Given the description of an element on the screen output the (x, y) to click on. 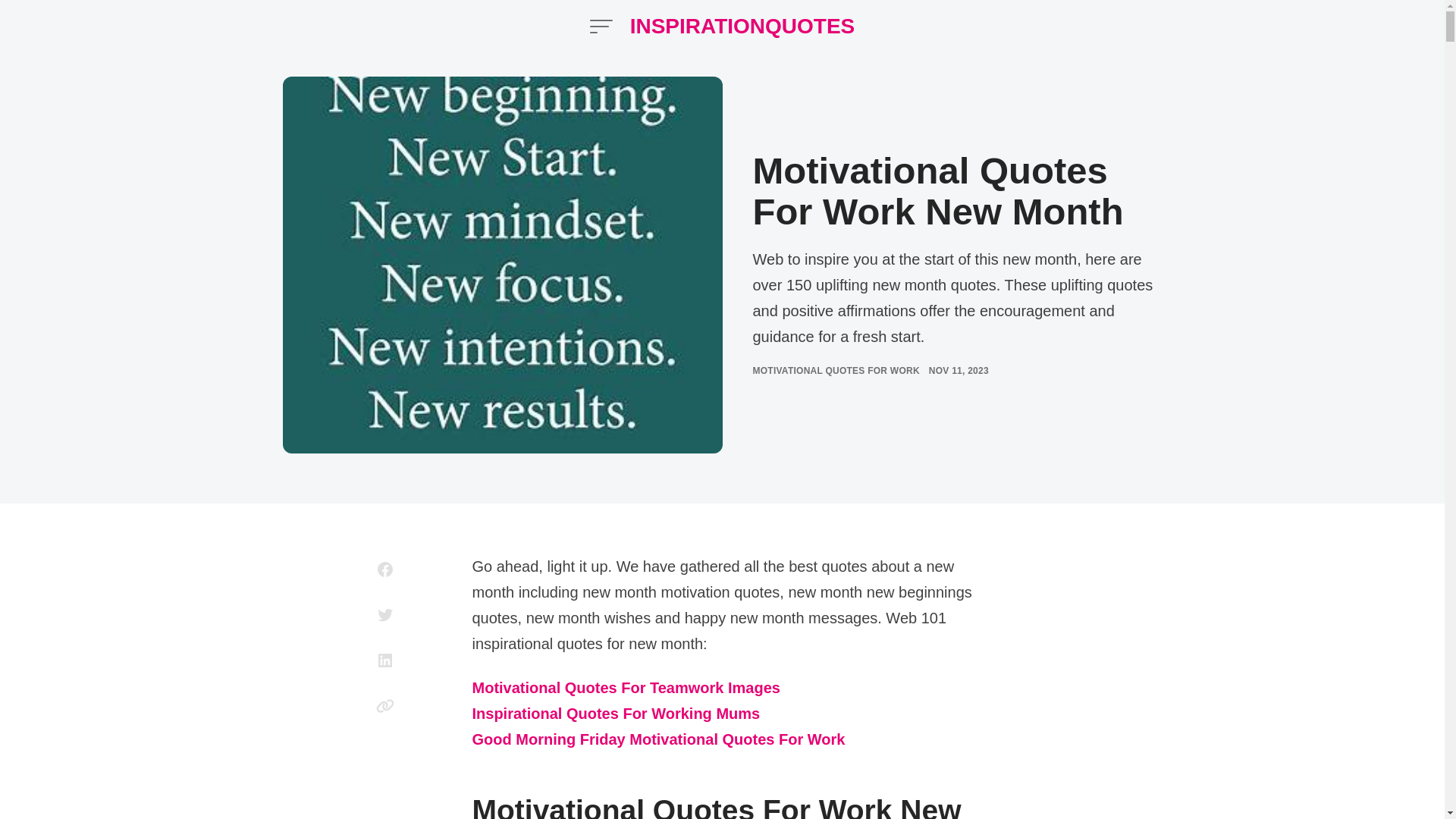
INSPIRATIONQUOTES (743, 26)
MOTIVATIONAL QUOTES FOR WORK (835, 370)
Copy link (384, 705)
Share on Facebook (384, 569)
Share on LinkedIn (384, 660)
Share on Twitter (384, 615)
Good Morning Friday Motivational Quotes For Work (657, 740)
Inspirational Quotes For Working Mums (615, 714)
Motivational Quotes For Teamwork Images (624, 688)
